Given the description of an element on the screen output the (x, y) to click on. 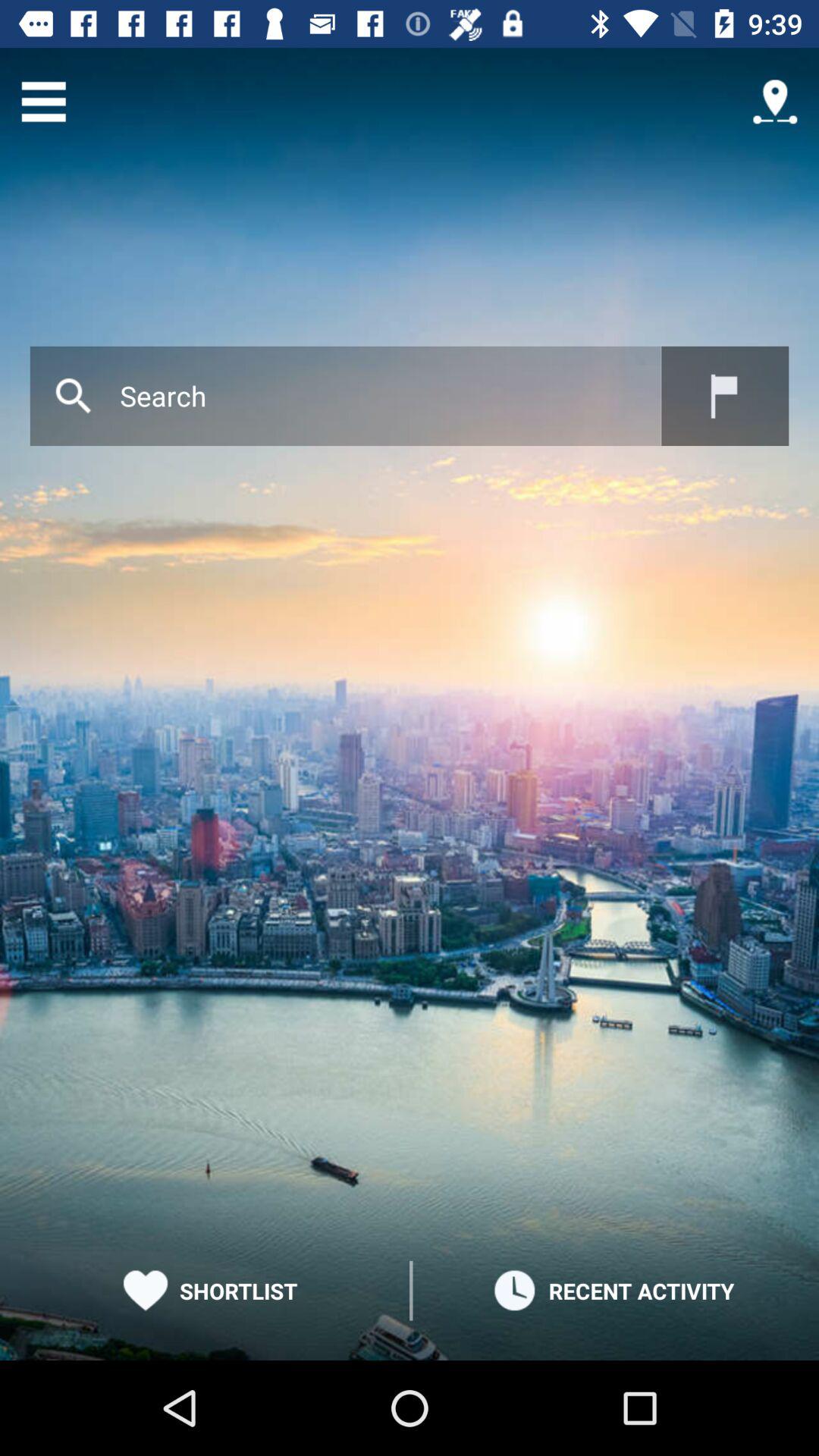
location option (775, 101)
